Given the description of an element on the screen output the (x, y) to click on. 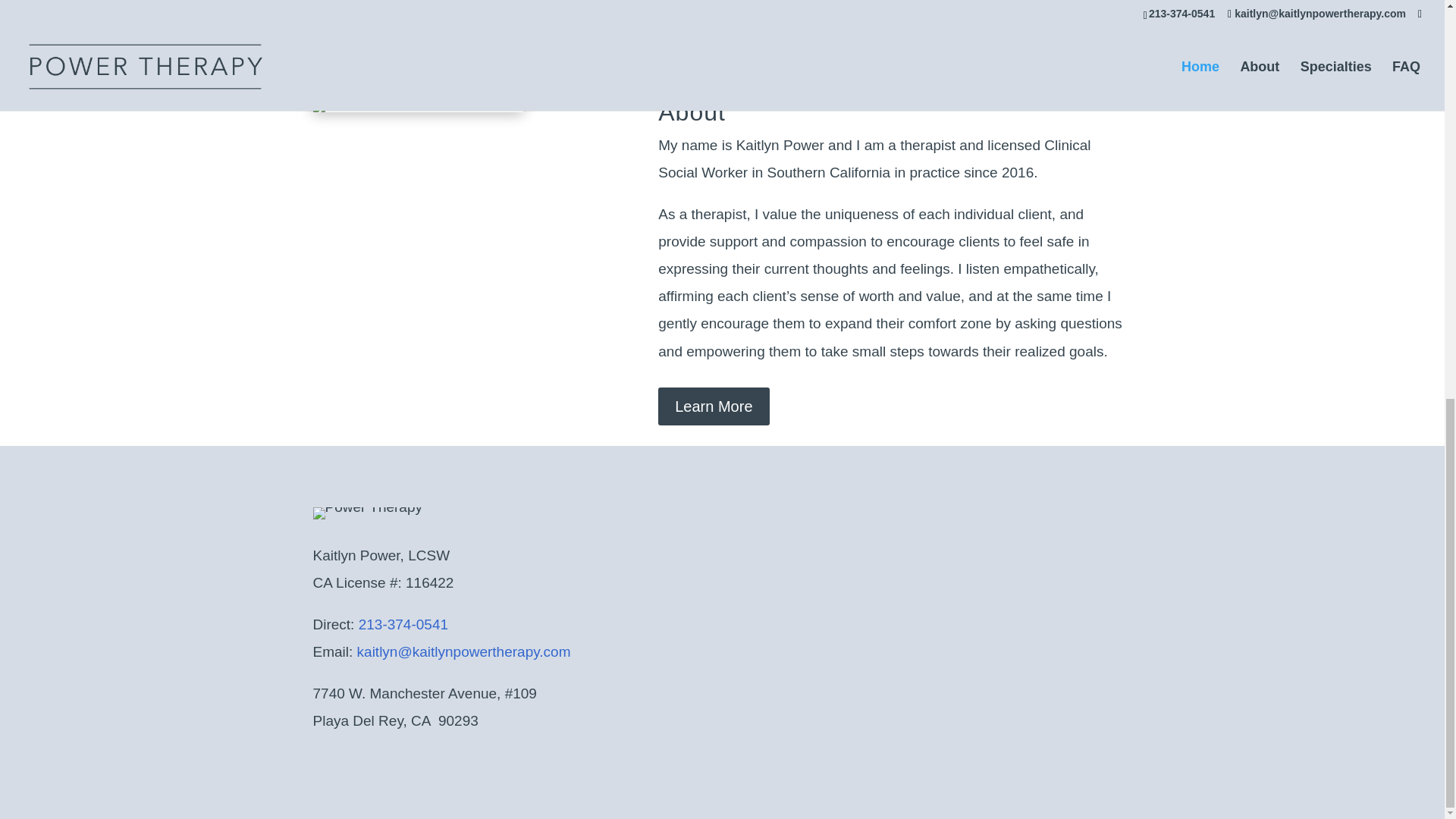
213-374-0541 (403, 624)
Power Therapy (367, 512)
Learn More (713, 406)
Kaitlyn Power Therapy Office 1 (417, 105)
